Given the description of an element on the screen output the (x, y) to click on. 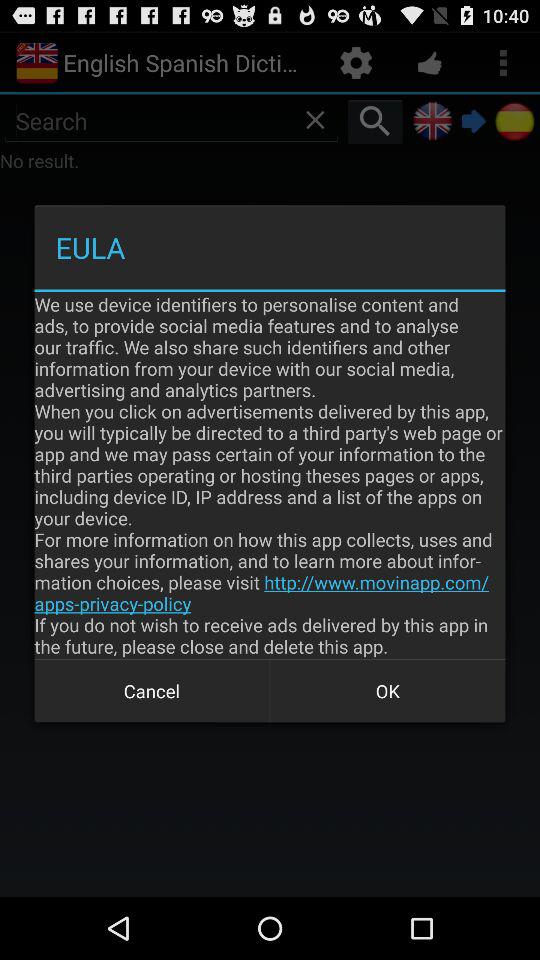
scroll until ok item (387, 690)
